Given the description of an element on the screen output the (x, y) to click on. 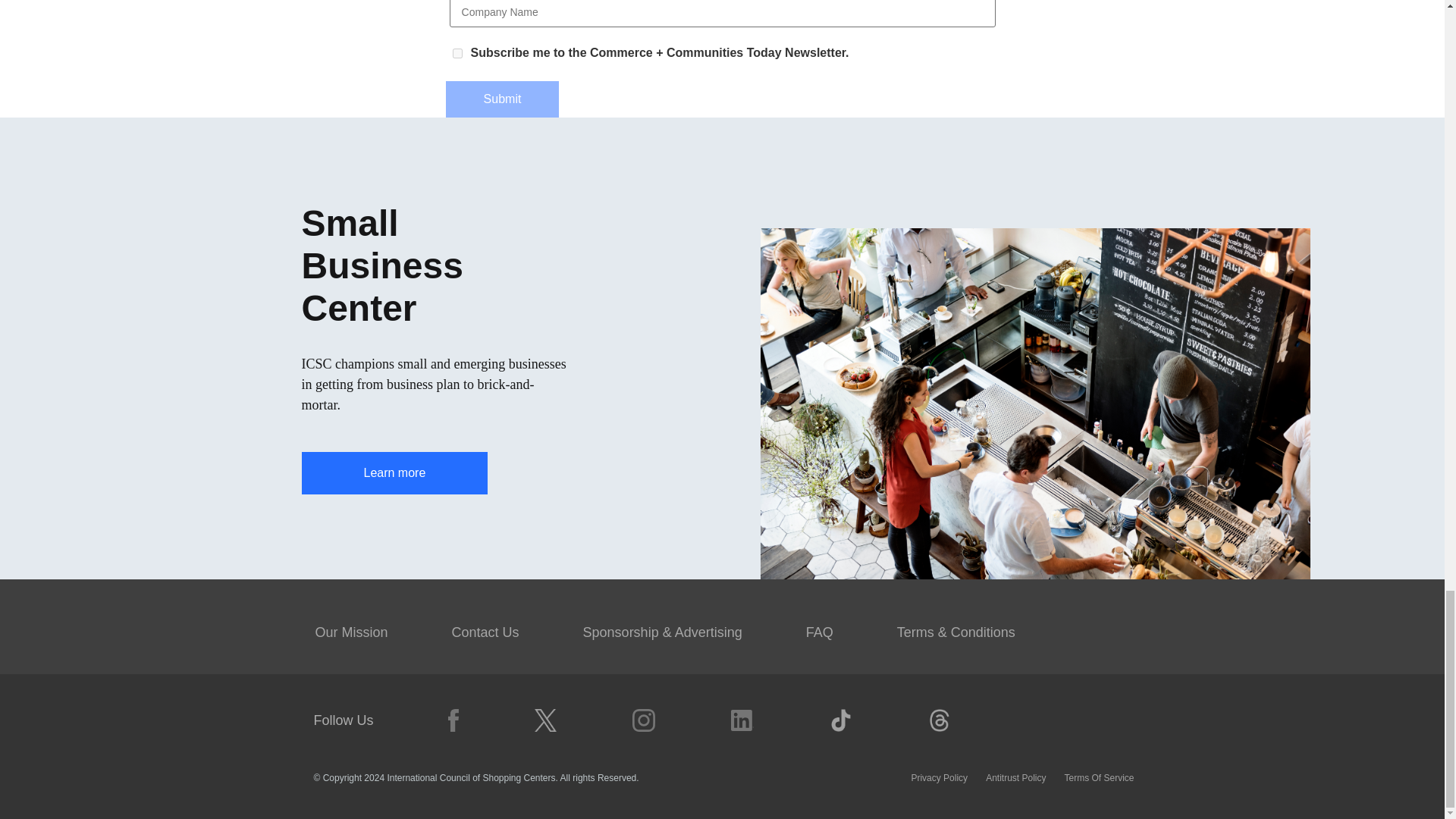
yes (456, 53)
